Given the description of an element on the screen output the (x, y) to click on. 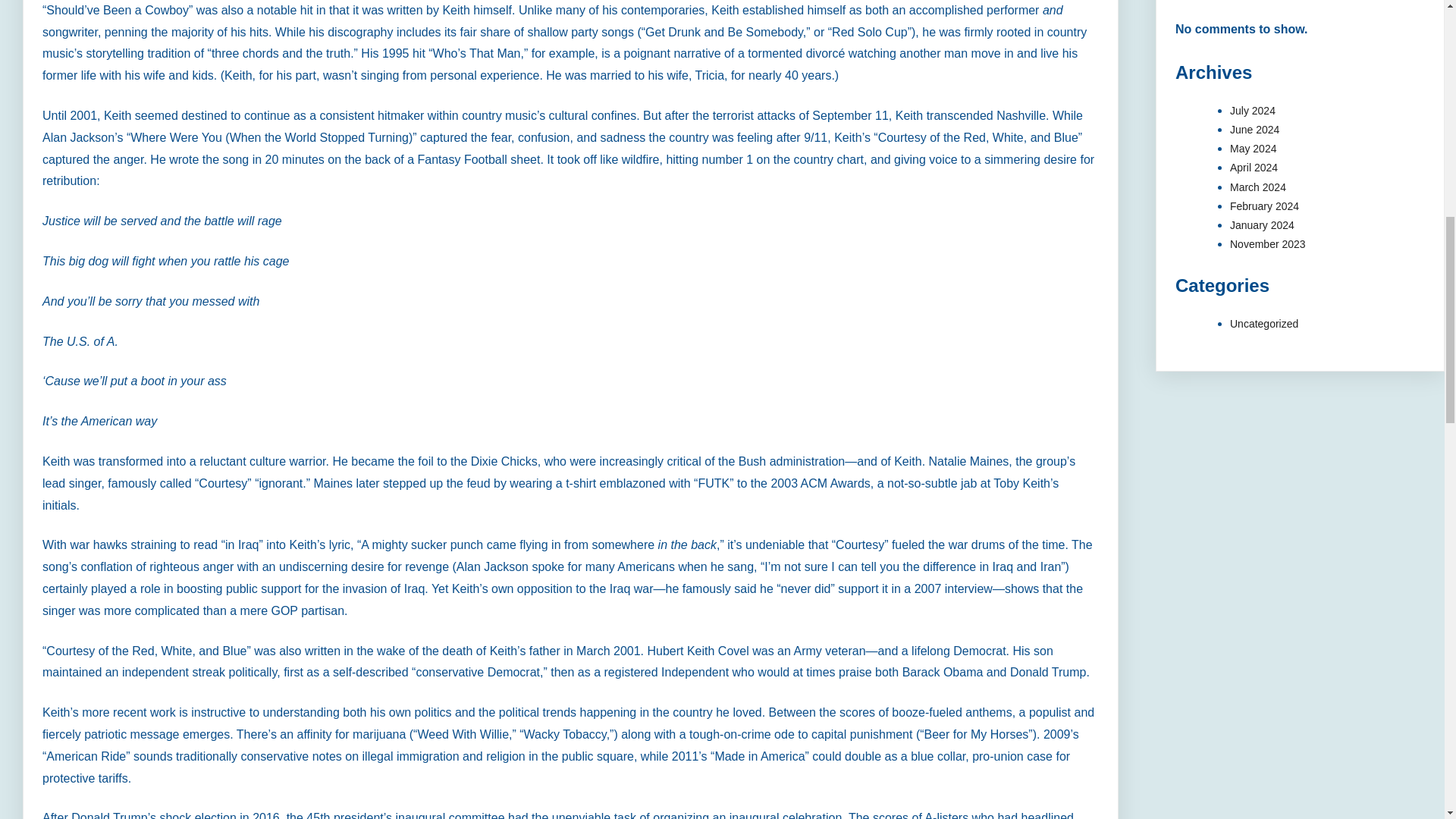
June 2024 (1254, 129)
March 2024 (1257, 186)
November 2023 (1268, 244)
May 2024 (1253, 148)
February 2024 (1264, 205)
Uncategorized (1264, 323)
July 2024 (1252, 110)
January 2024 (1262, 224)
April 2024 (1254, 167)
